Given the description of an element on the screen output the (x, y) to click on. 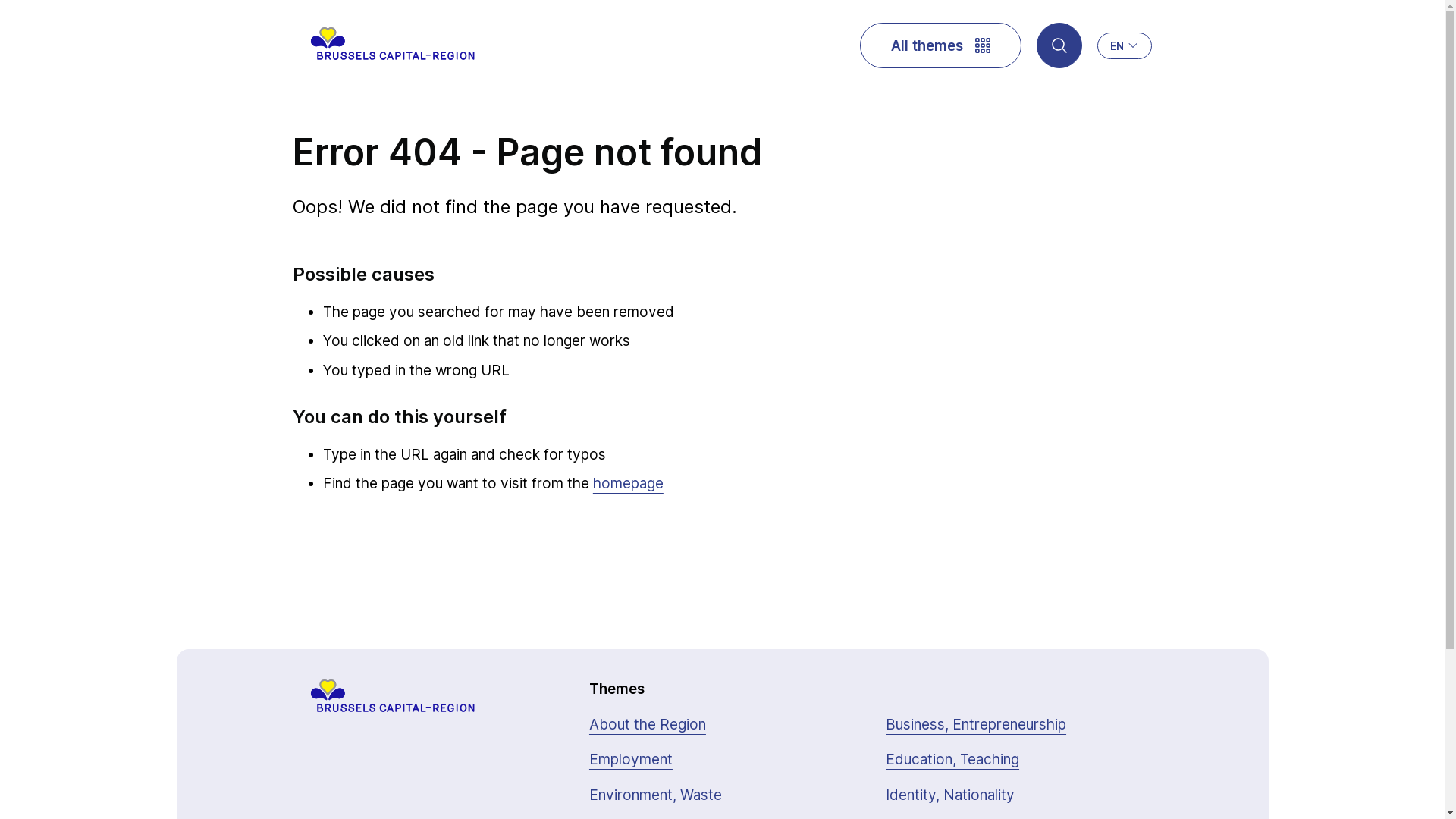
Employment Element type: text (630, 759)
Business, Entrepreneurship Element type: text (975, 725)
EN Element type: text (1124, 44)
About the Region Element type: text (647, 725)
Education, Teaching Element type: text (952, 759)
All themes Element type: text (940, 45)
Environment, Waste Element type: text (655, 795)
homepage Element type: text (628, 483)
Identity, Nationality Element type: text (949, 795)
